Given the description of an element on the screen output the (x, y) to click on. 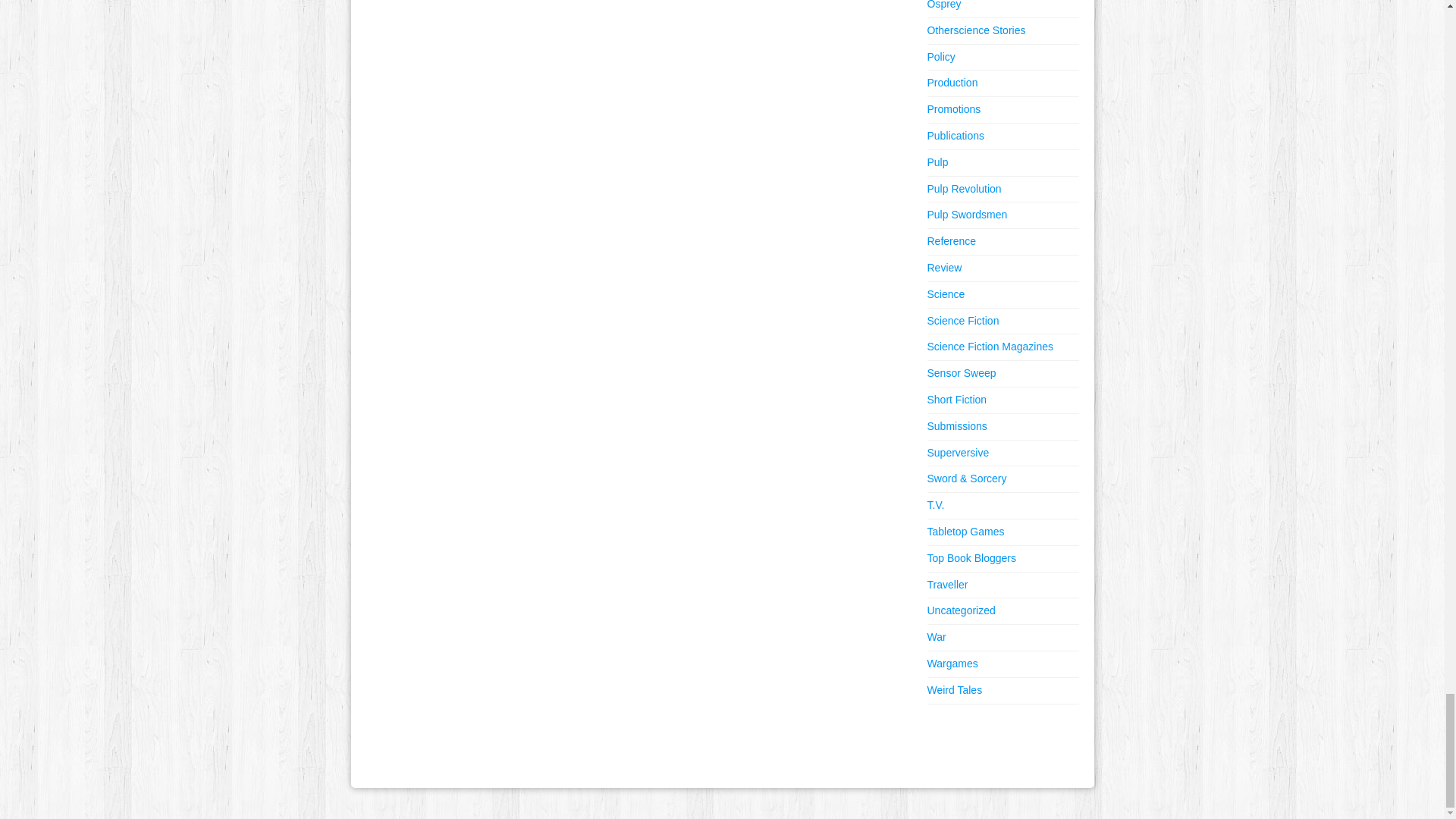
Announcements of new publications by Castalia House (955, 135)
